Given the description of an element on the screen output the (x, y) to click on. 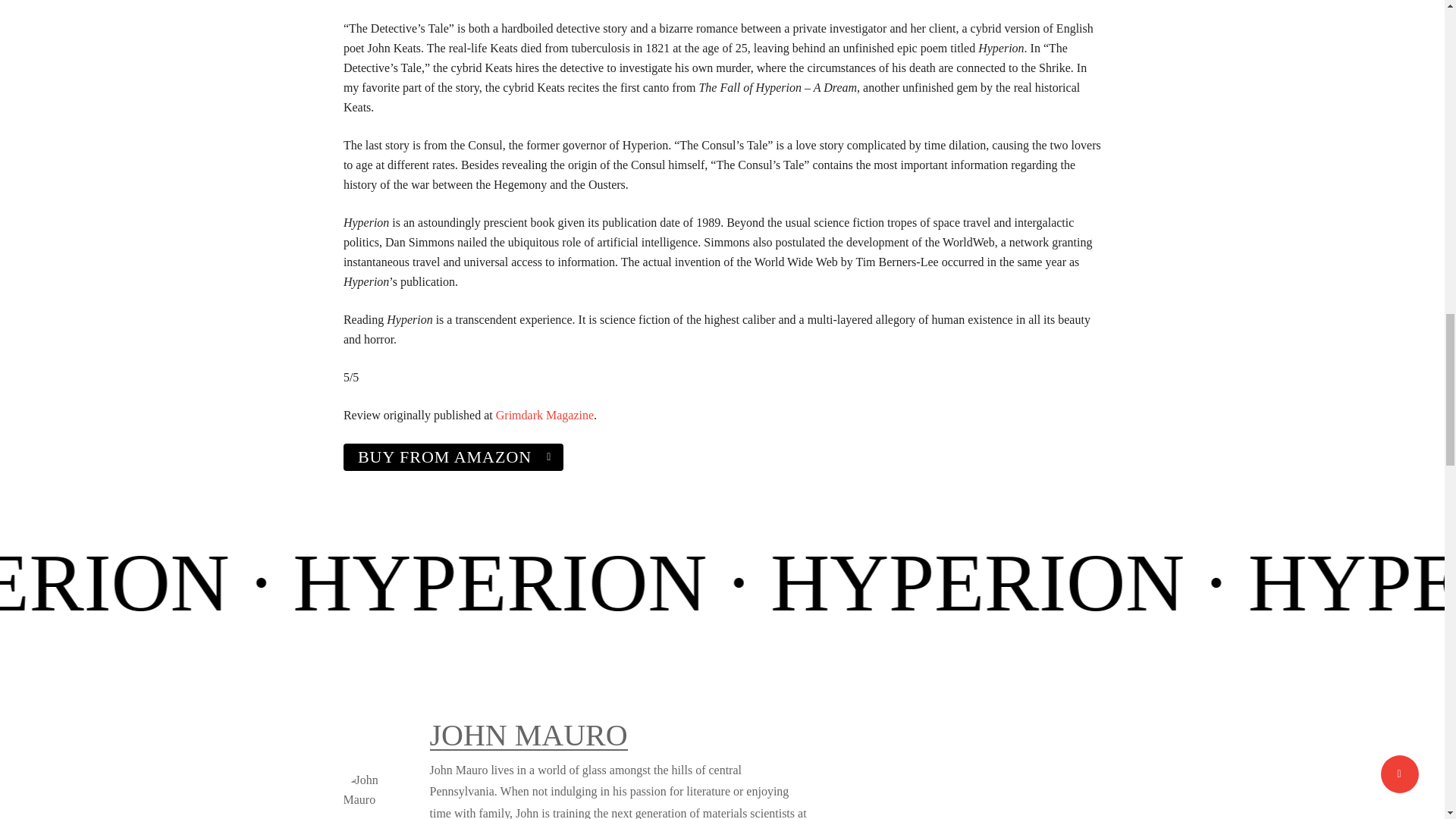
JOHN MAURO (528, 735)
Grimdark Magazine (545, 414)
BUY FROM AMAZON (453, 456)
HYPERION (1319, 583)
